Given the description of an element on the screen output the (x, y) to click on. 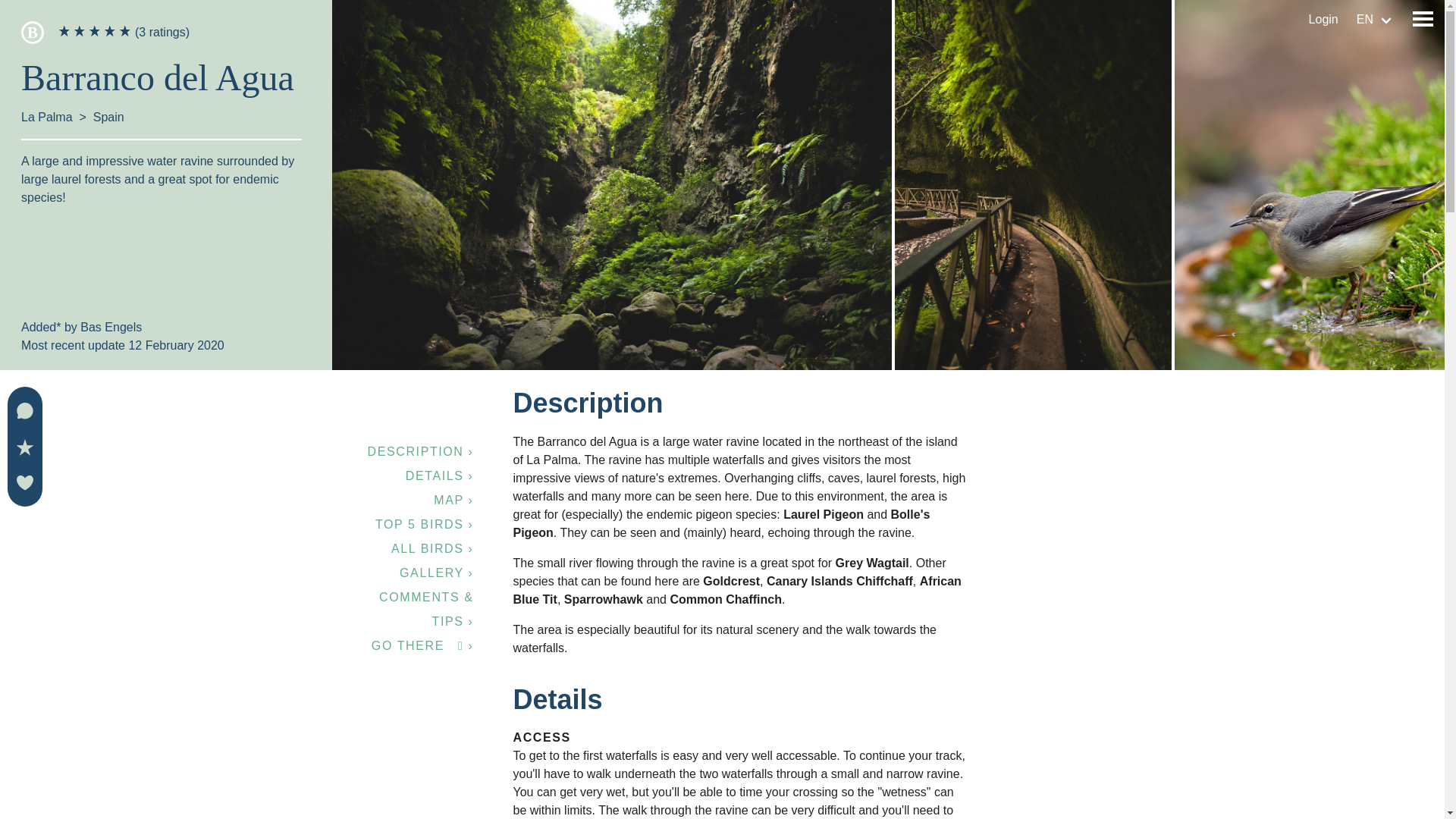
Login (1324, 19)
Bas Engels (110, 327)
